Given the description of an element on the screen output the (x, y) to click on. 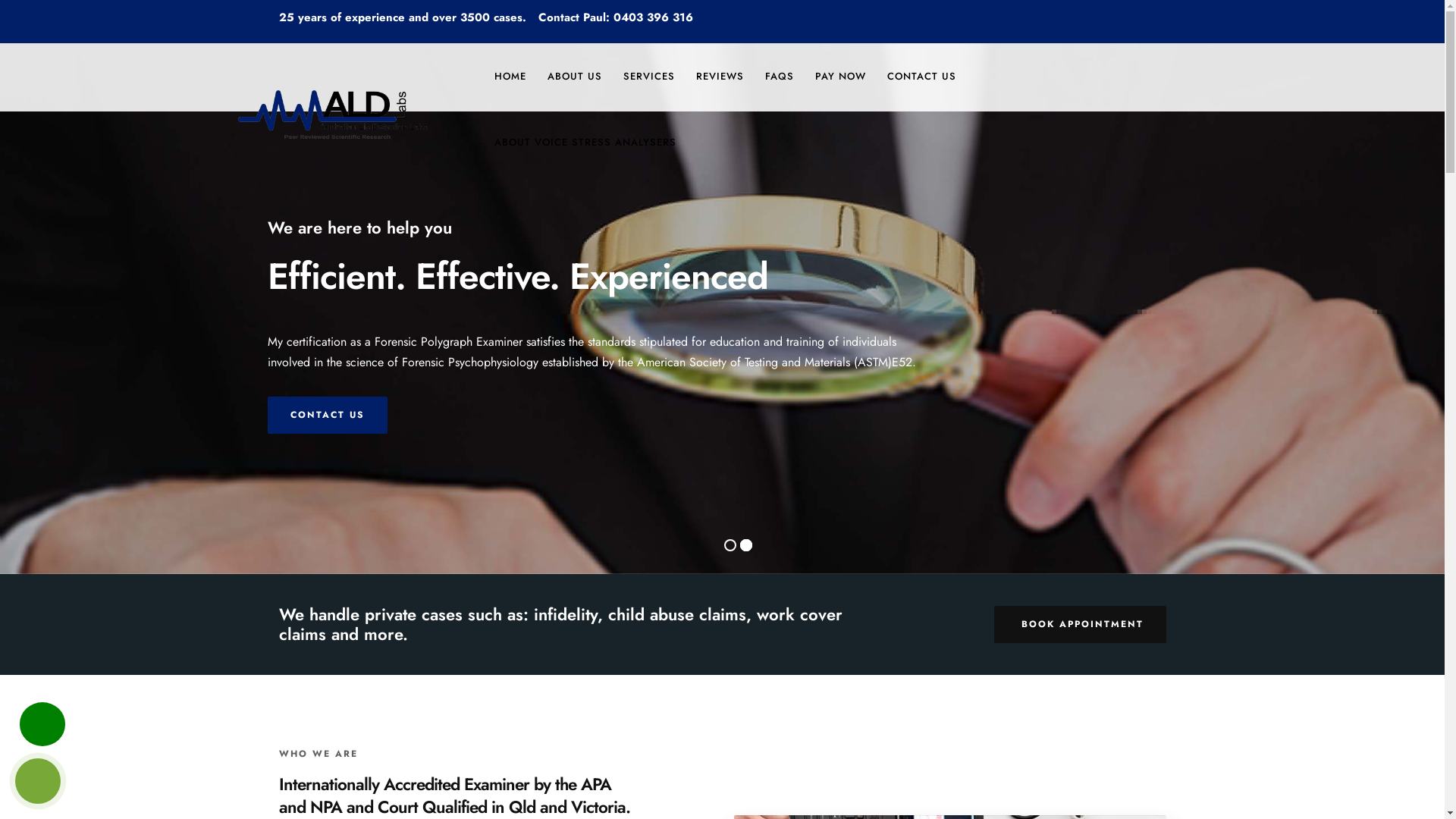
BOOK APPOINTMENT Element type: text (1079, 624)
ABOUT US Element type: text (574, 76)
ABOUT VOICE STRESS ANALYSERS Element type: text (585, 142)
HOME Element type: text (509, 76)
PAY NOW Element type: text (840, 76)
CONTACT US Element type: text (921, 76)
SERVICES Element type: text (648, 76)
REVIEWS Element type: text (719, 76)
CONTACT US Element type: text (327, 414)
FAQS Element type: text (779, 76)
